Given the description of an element on the screen output the (x, y) to click on. 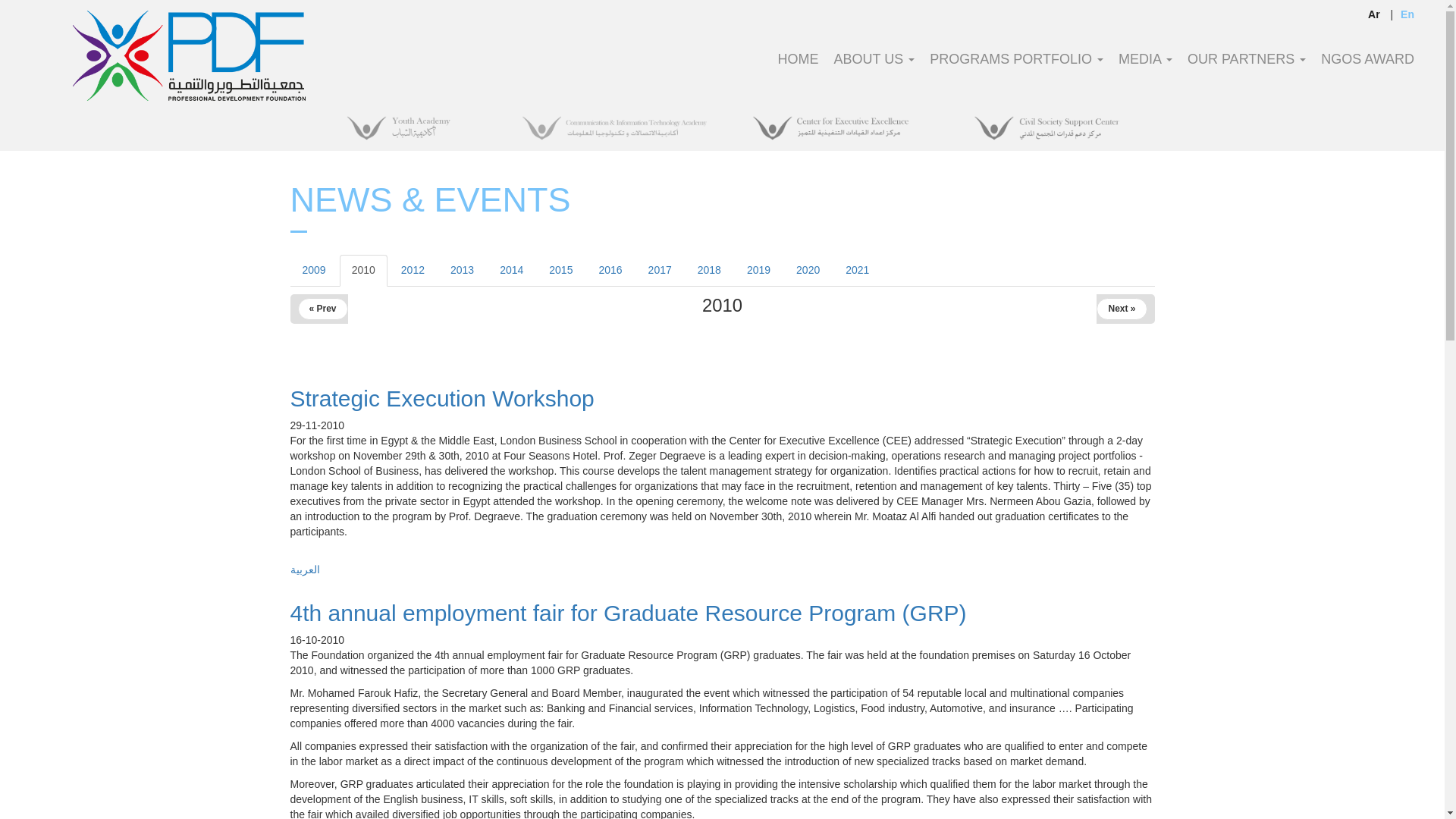
Programs Portfolio (1015, 68)
En (1407, 14)
PROGRAMS PORTFOLIO (1015, 68)
OUR PARTNERS (1246, 68)
HOME (798, 68)
Ar (1373, 14)
Home (189, 55)
ABOUT US (875, 68)
About Us (875, 68)
MEDIA (1144, 68)
Home (798, 68)
NGOS AWARD (1367, 68)
